Given the description of an element on the screen output the (x, y) to click on. 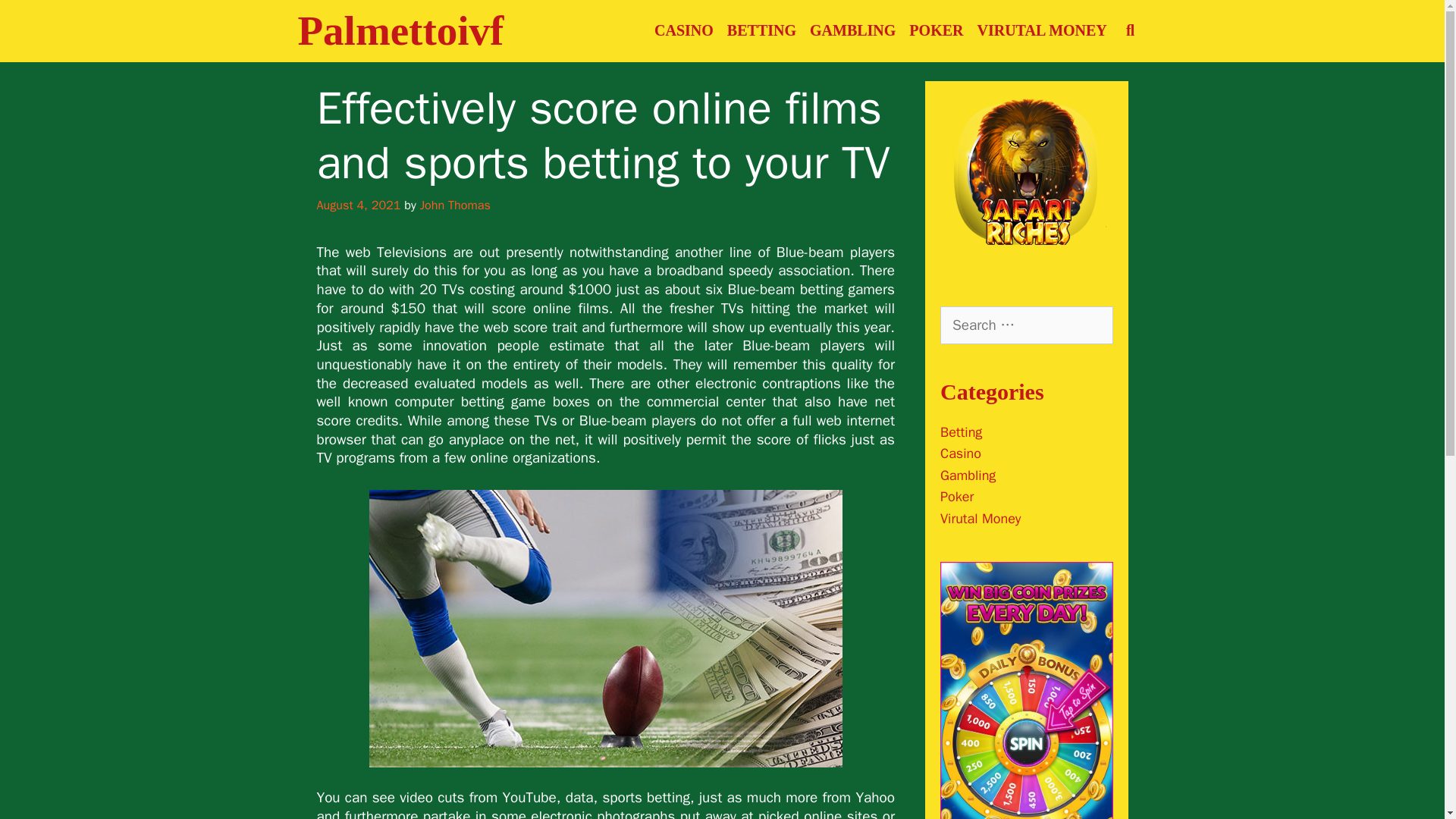
VIRUTAL MONEY (1041, 30)
View all posts by John Thomas (455, 204)
Poker (957, 496)
Search (249, 26)
GAMBLING (852, 30)
Gambling (967, 475)
Search (41, 22)
BETTING (761, 30)
August 4, 2021 (359, 204)
Betting (960, 432)
Palmettoivf (400, 30)
John Thomas (455, 204)
Search for: (1026, 325)
4:09 am (359, 204)
Casino (960, 453)
